Given the description of an element on the screen output the (x, y) to click on. 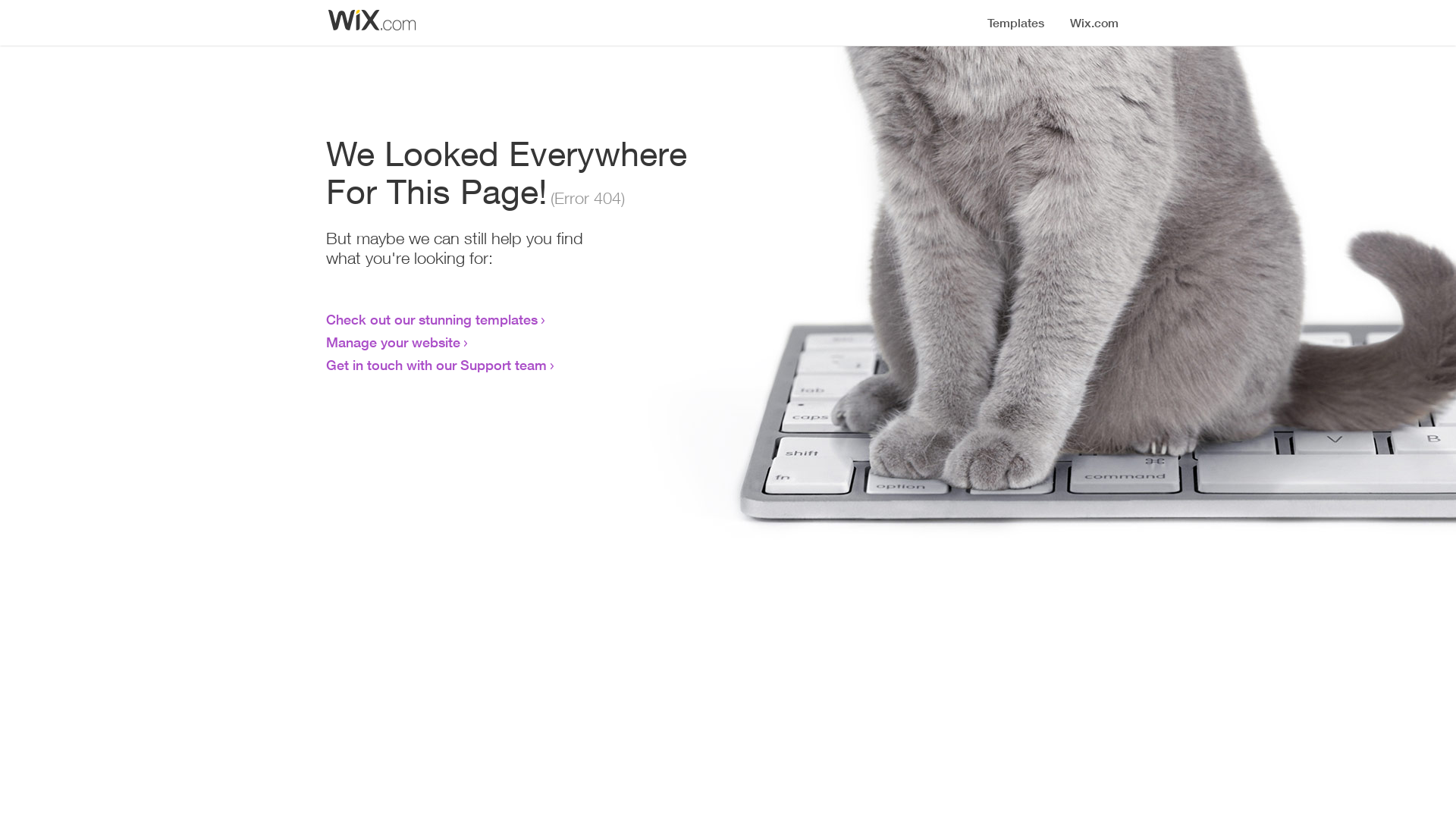
Manage your website Element type: text (393, 341)
Get in touch with our Support team Element type: text (436, 364)
Check out our stunning templates Element type: text (431, 318)
